Given the description of an element on the screen output the (x, y) to click on. 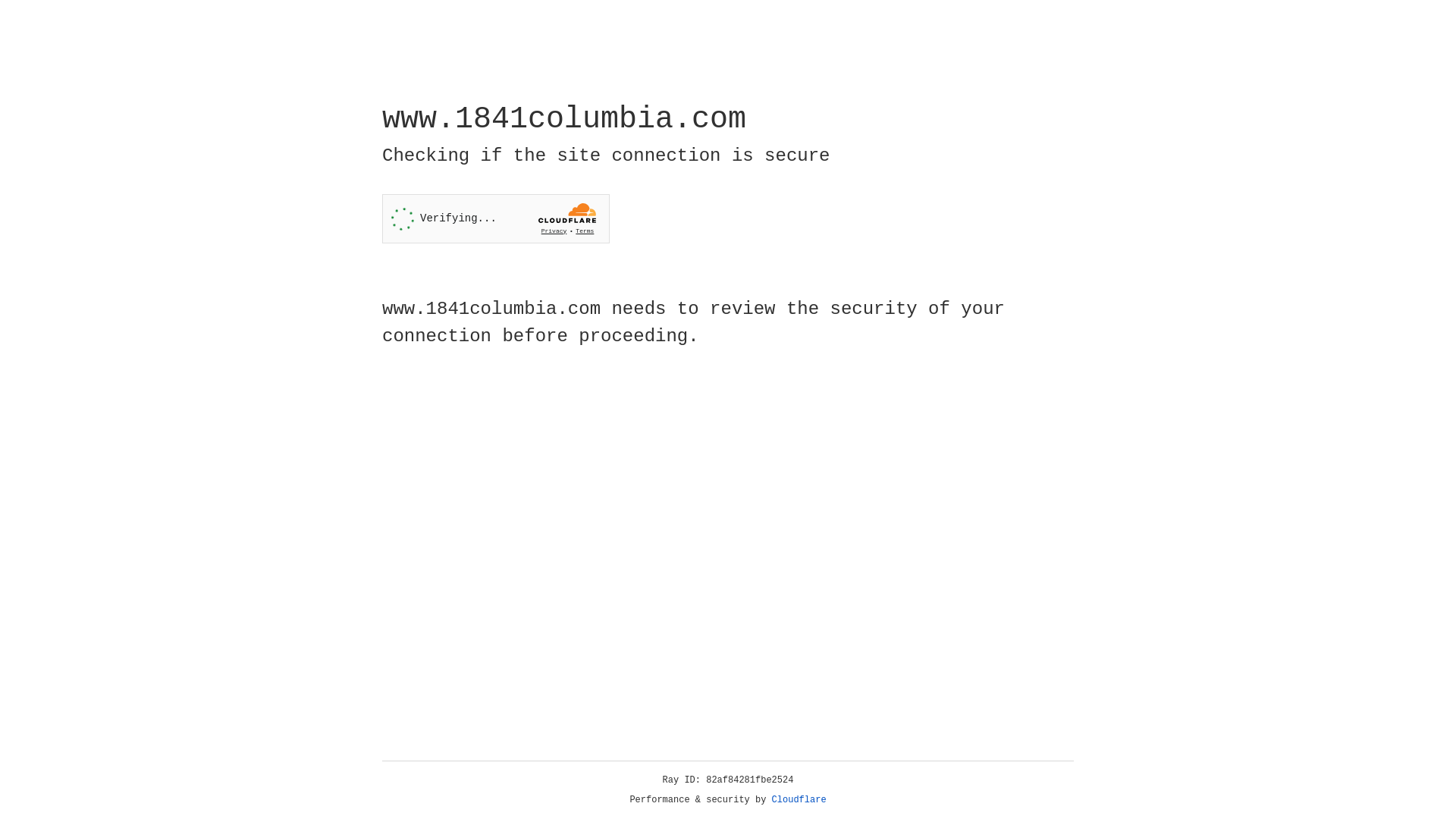
Cloudflare Element type: text (798, 799)
Widget containing a Cloudflare security challenge Element type: hover (495, 218)
